Given the description of an element on the screen output the (x, y) to click on. 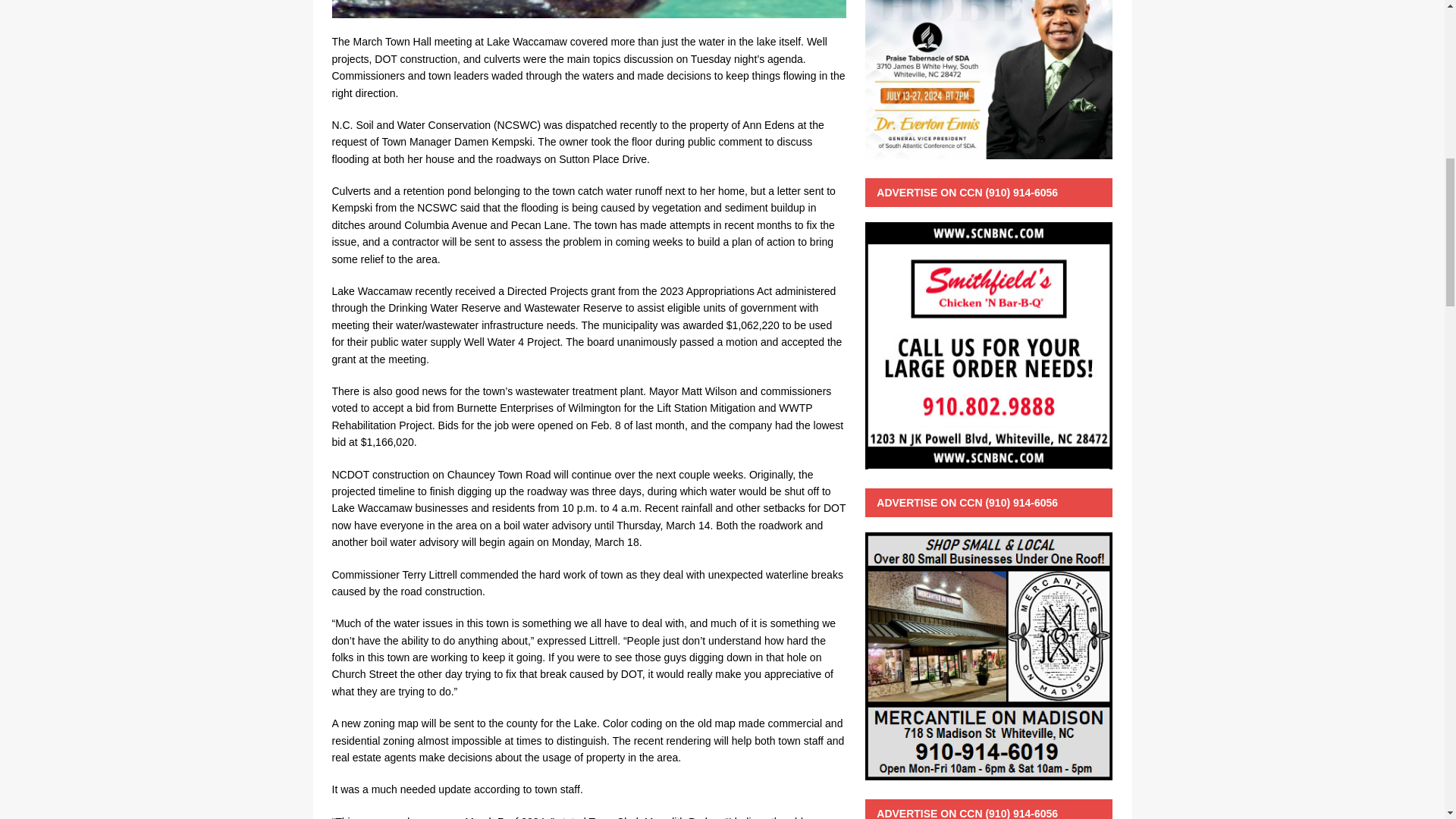
gatorfest2024 (588, 9)
